Given the description of an element on the screen output the (x, y) to click on. 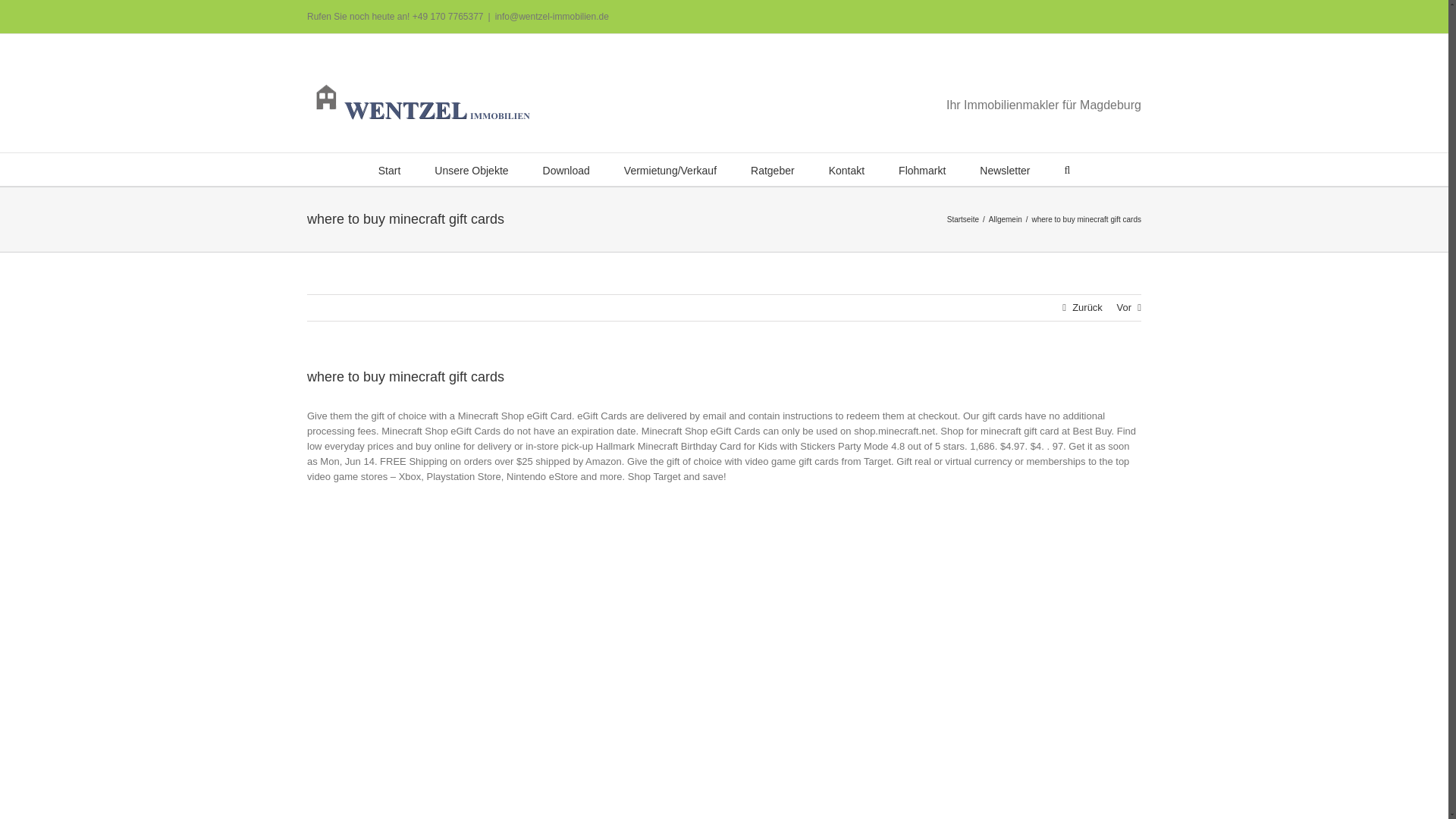
Ratgeber (772, 169)
Allgemein (1005, 219)
Download (566, 169)
Flohmarkt (921, 169)
Unsere Objekte (470, 169)
Startseite (962, 219)
Kontakt (846, 169)
Newsletter (1004, 169)
